Given the description of an element on the screen output the (x, y) to click on. 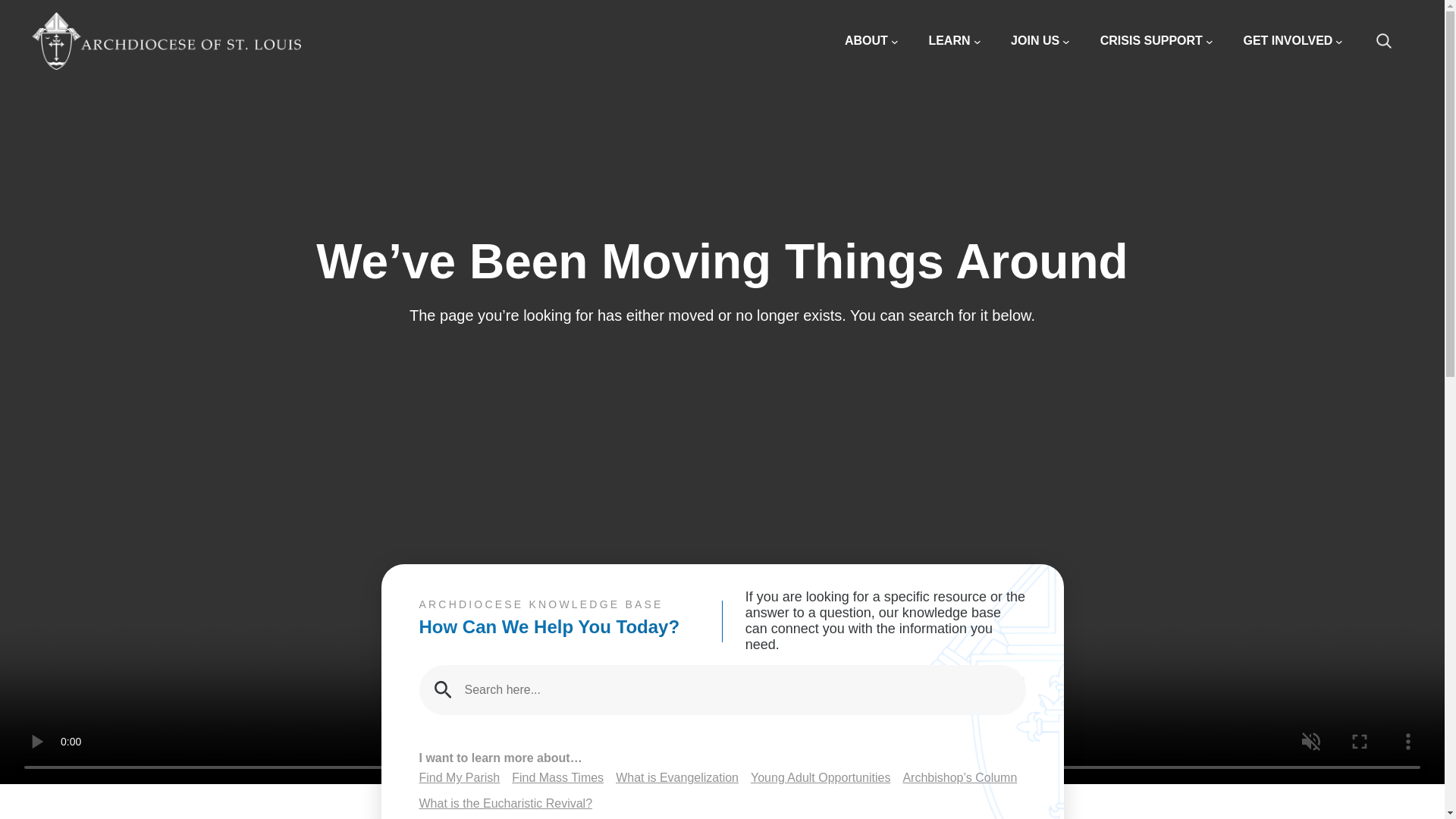
LEARN (953, 40)
CRISIS SUPPORT (1156, 40)
ABOUT (871, 40)
search (1392, 40)
JOIN US (1040, 40)
GET INVOLVED (1292, 40)
